Given the description of an element on the screen output the (x, y) to click on. 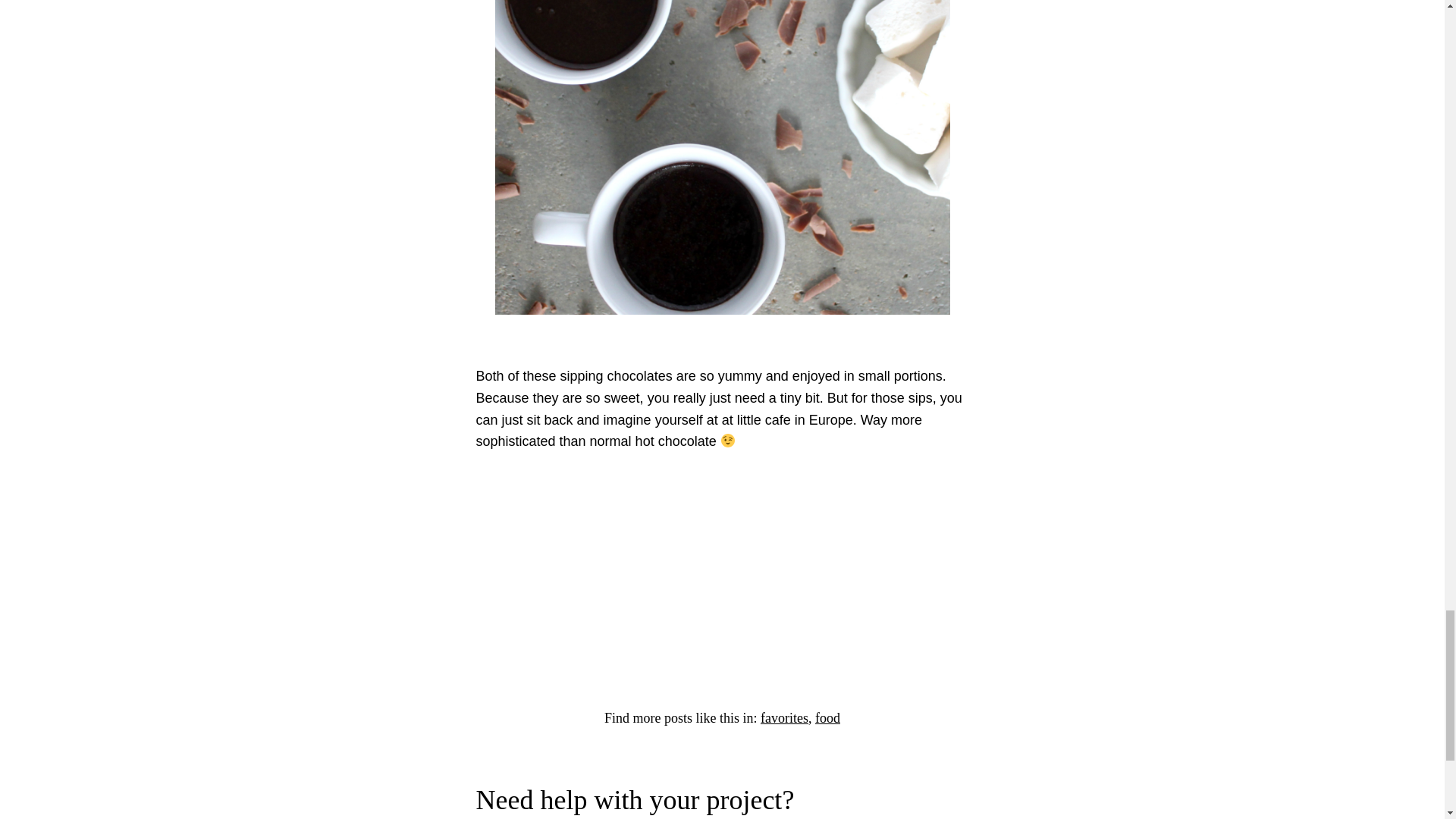
favorites (784, 717)
food (827, 717)
